Given the description of an element on the screen output the (x, y) to click on. 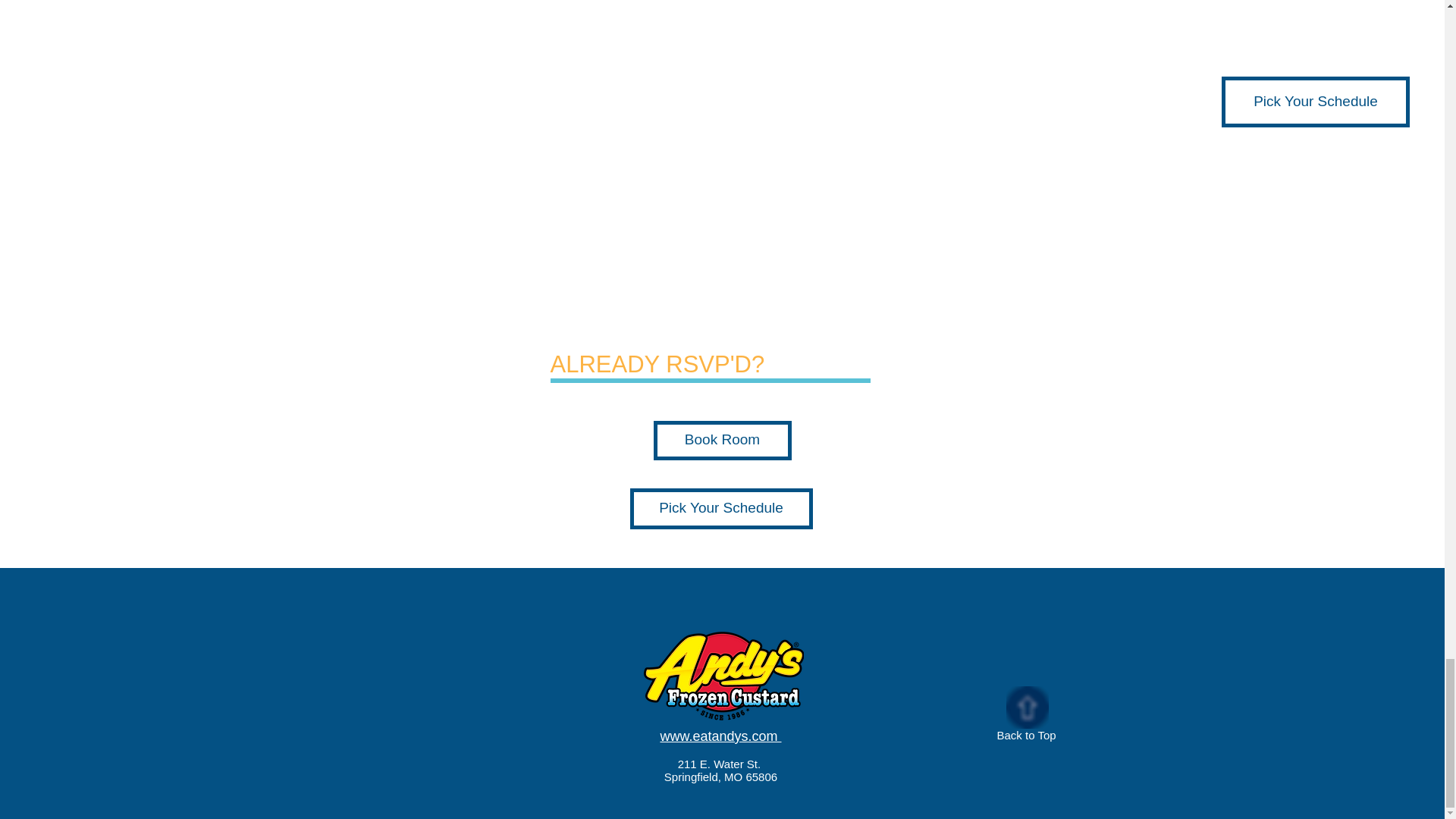
Book Room (722, 440)
Pick Your Schedule (720, 508)
www.eatandys.com  (719, 735)
Back to Top (1025, 735)
